Given the description of an element on the screen output the (x, y) to click on. 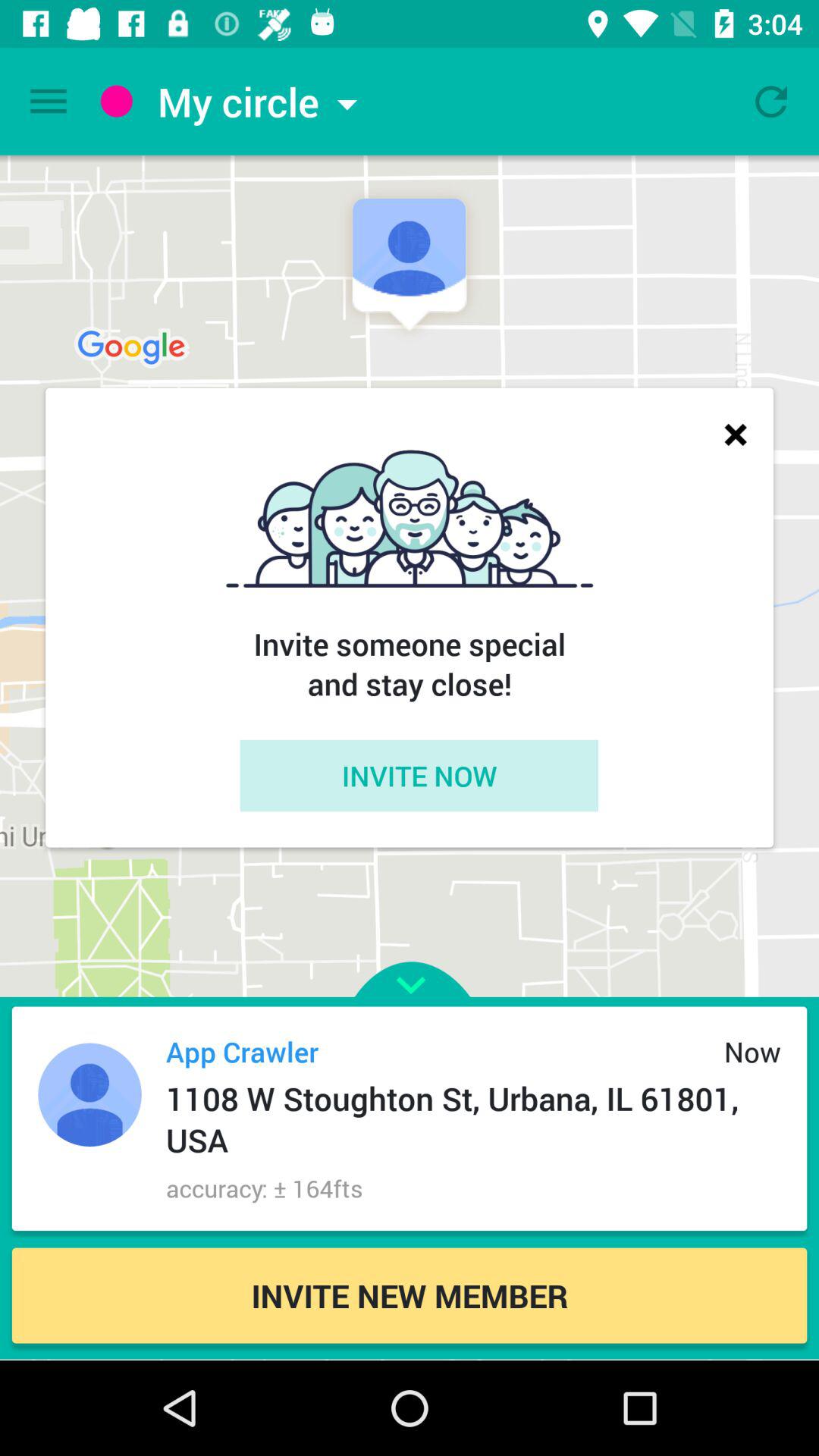
click icon below invite someone special (419, 775)
